Given the description of an element on the screen output the (x, y) to click on. 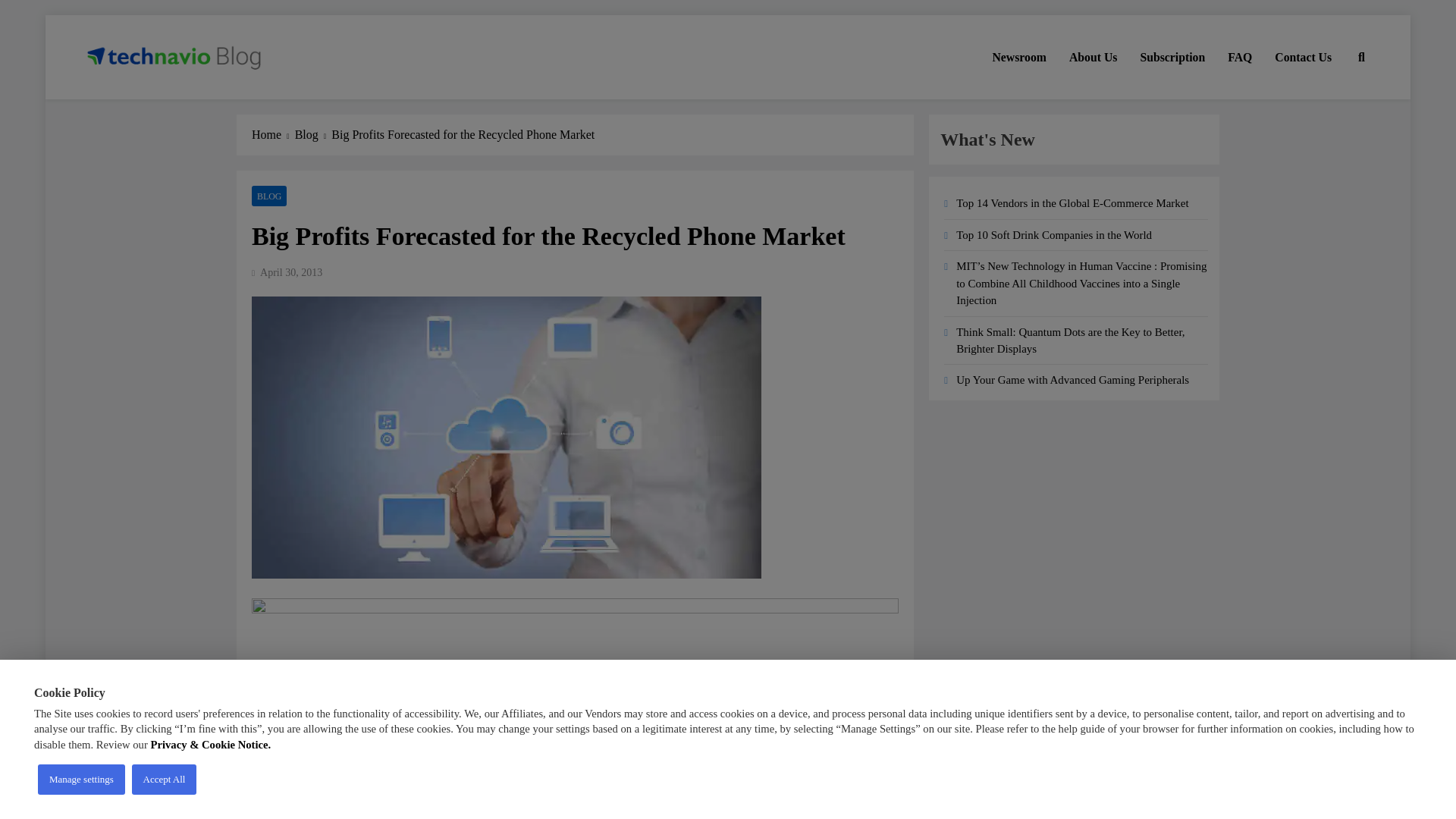
Home (273, 135)
Top 14 Vendors in the Global E-Commerce Market (1072, 203)
Newsroom (1019, 56)
Up Your Game with Advanced Gaming Peripherals (1072, 379)
Technavio (138, 100)
Top 10 Soft Drink Companies in the World (1053, 234)
Blog (313, 135)
April 30, 2013 (290, 272)
About Us (1093, 56)
BLOG (268, 195)
FAQ (1239, 56)
Contact Us (1302, 56)
Subscription (1171, 56)
